Given the description of an element on the screen output the (x, y) to click on. 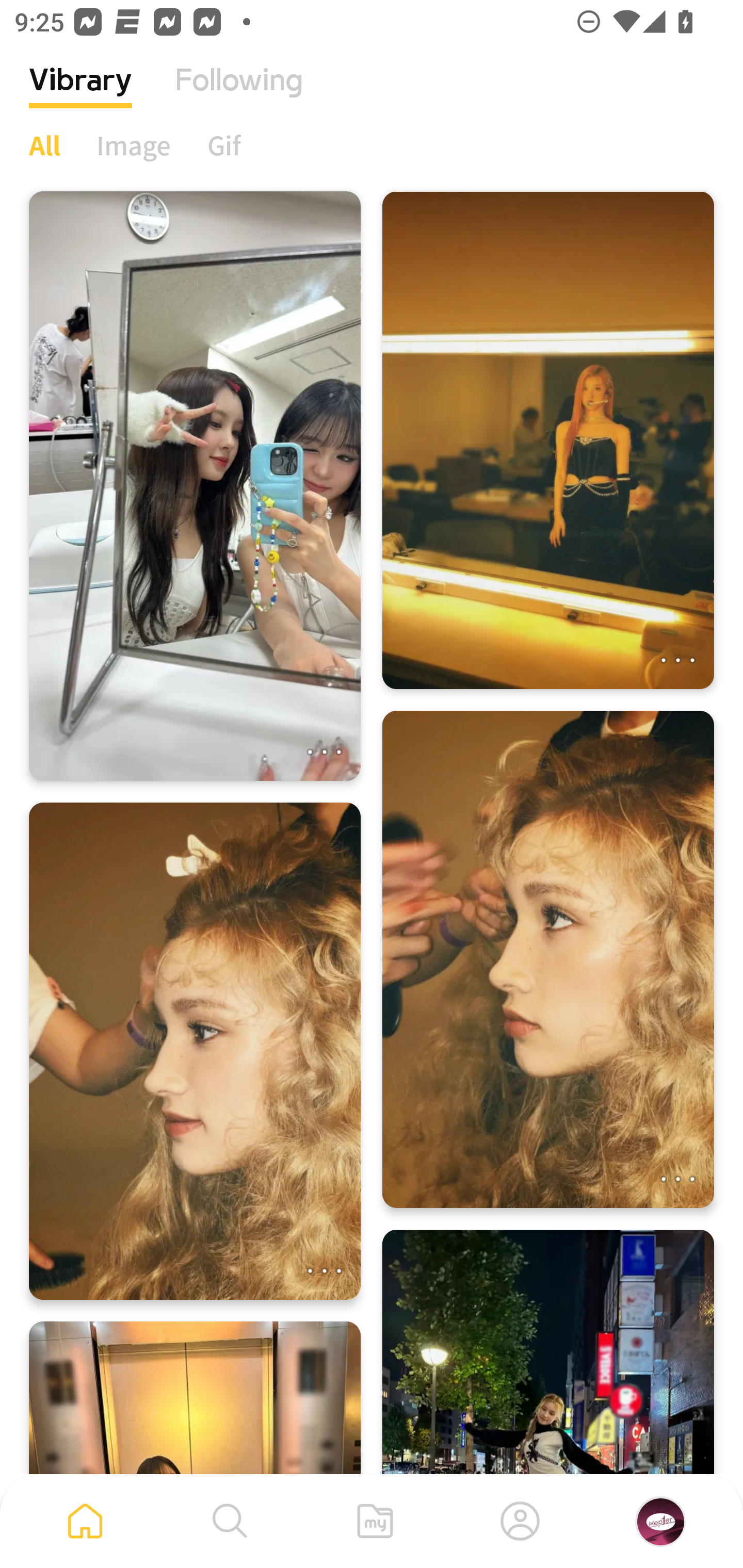
Vibrary (80, 95)
Following (239, 95)
All (44, 145)
Image (133, 145)
Gif (223, 145)
